Given the description of an element on the screen output the (x, y) to click on. 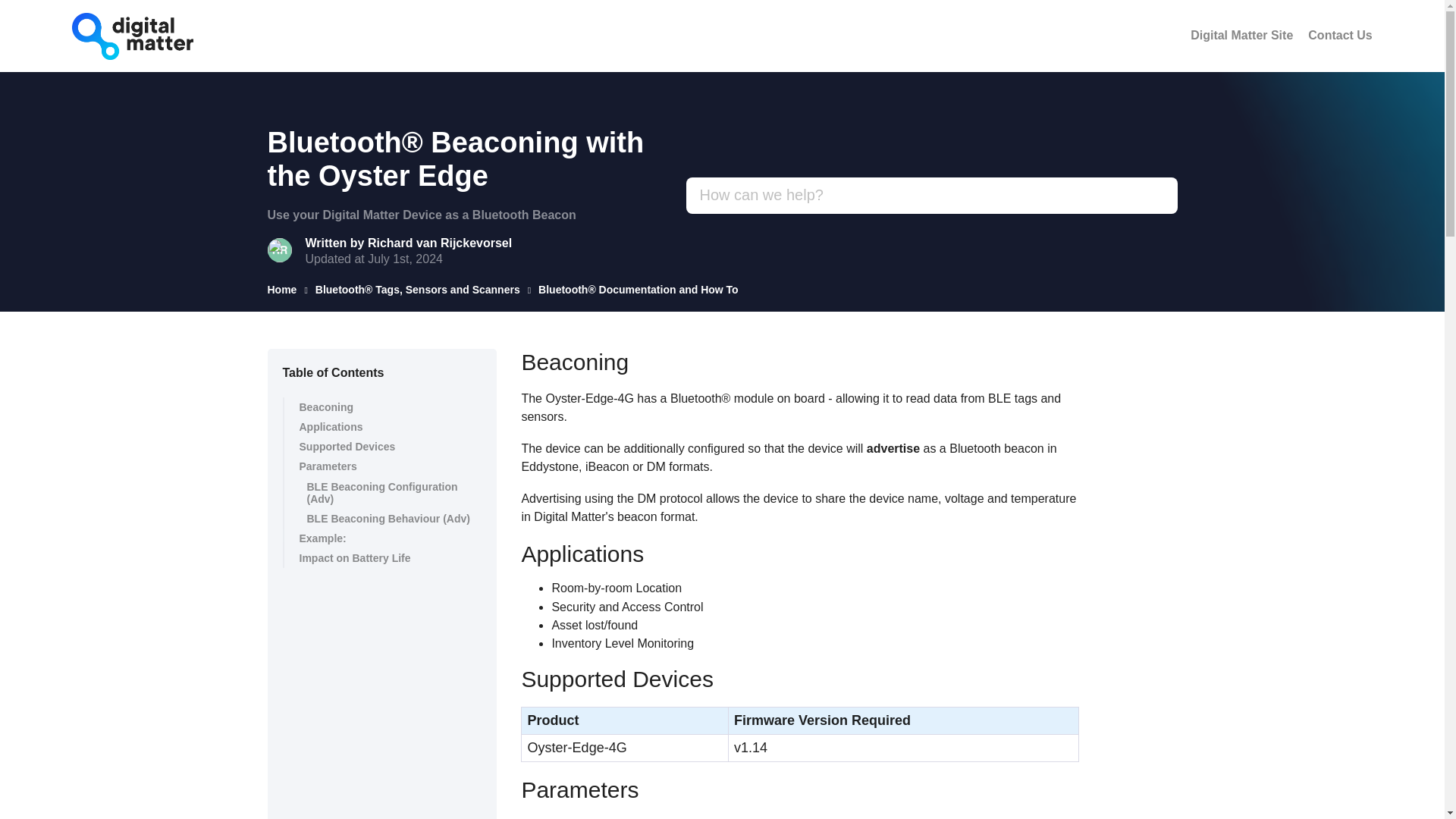
Digital Matter Site (1241, 34)
Impact on Battery Life (381, 557)
Contact Us (1339, 34)
Example: (381, 537)
Beaconing (381, 406)
Applications (381, 426)
Richard van Rijckevorsel (440, 242)
Supported Devices (381, 446)
Parameters (381, 465)
Home (281, 289)
